Given the description of an element on the screen output the (x, y) to click on. 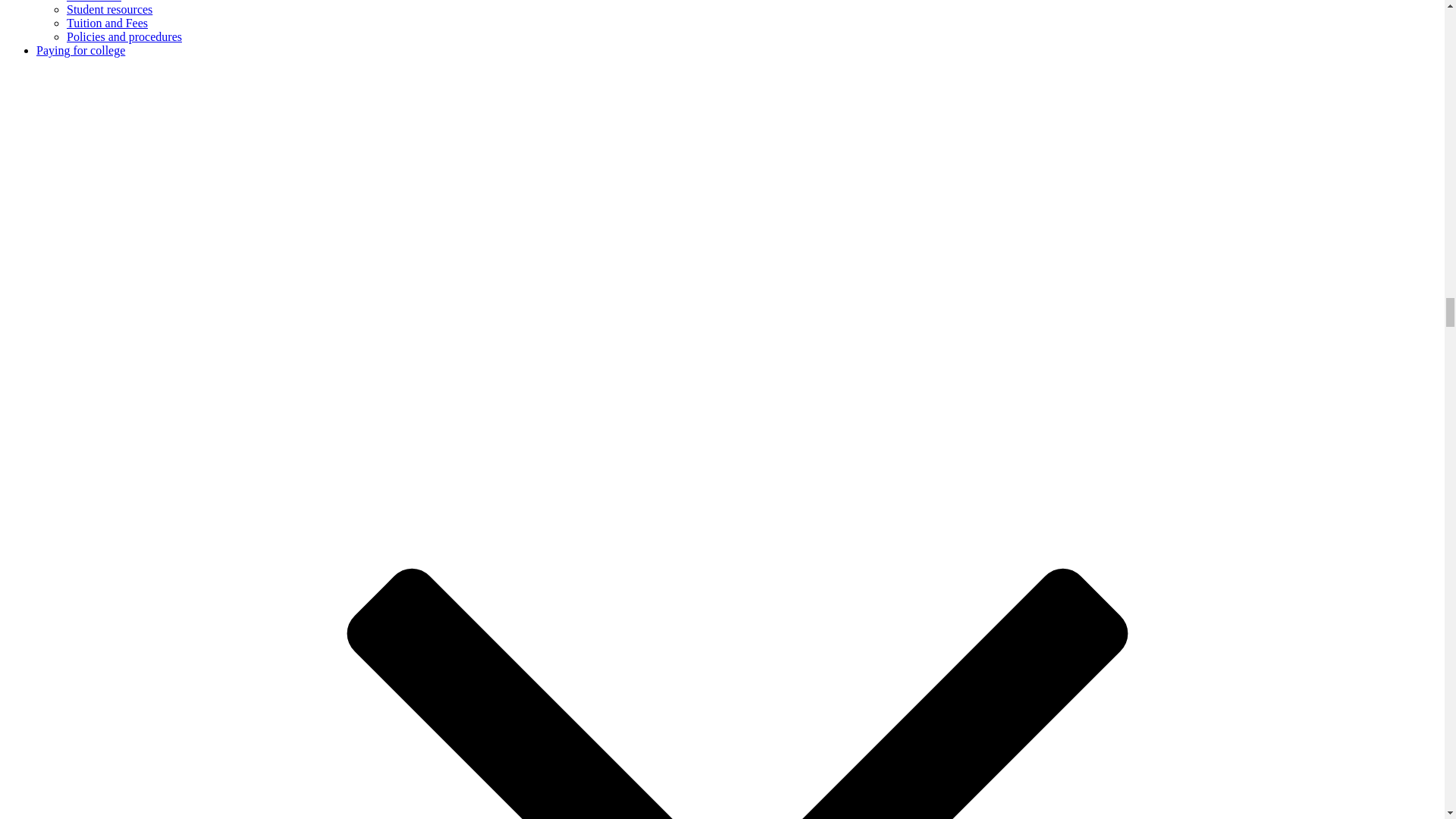
Policies and procedures (124, 36)
Enrollment (93, 1)
Student resources (109, 9)
Tuition and Fees (107, 22)
